Given the description of an element on the screen output the (x, y) to click on. 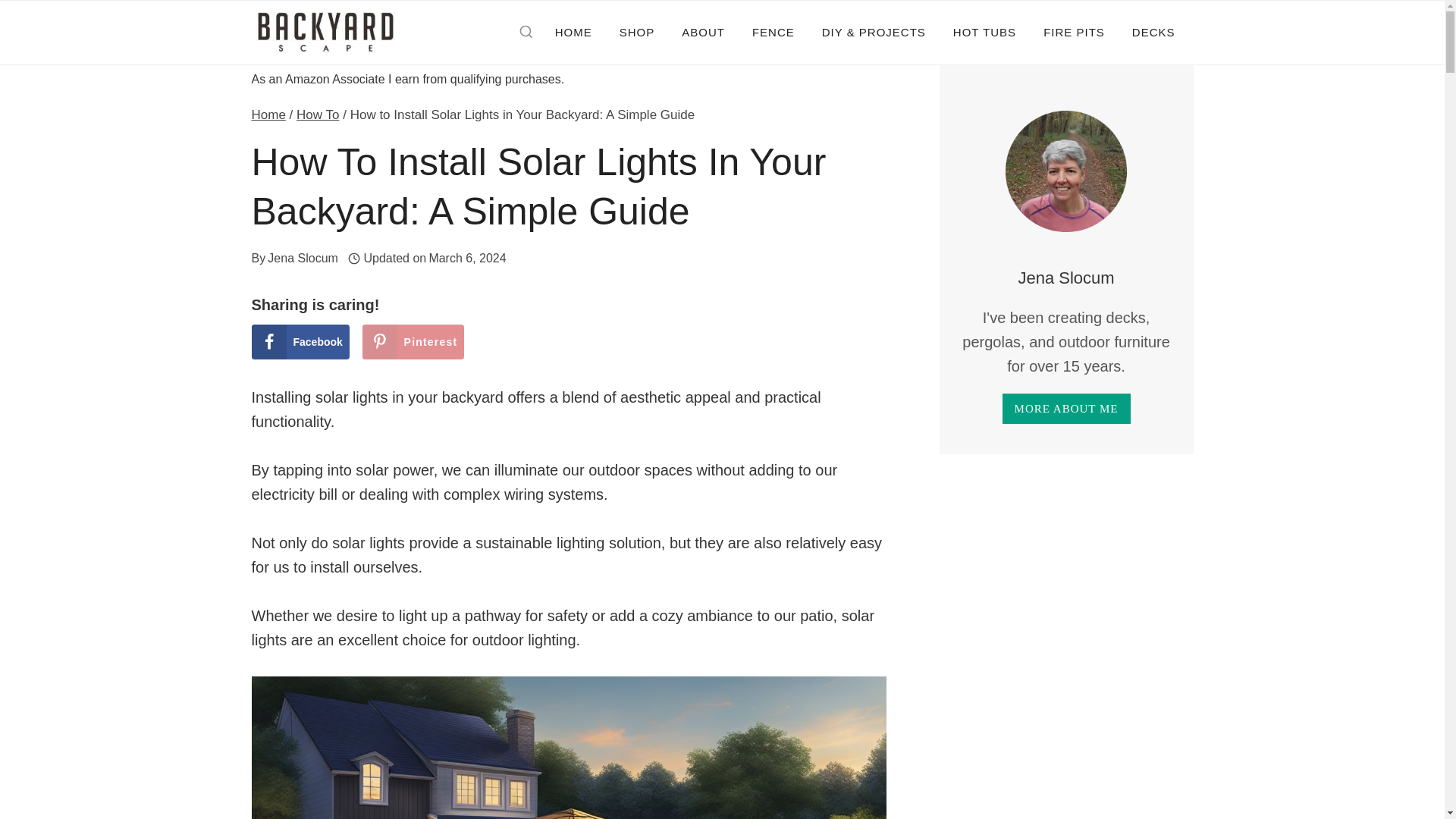
Pinterest (413, 341)
SHOP (636, 32)
DECKS (1153, 32)
HOME (573, 32)
FENCE (773, 32)
How To (318, 114)
ABOUT (703, 32)
Home (268, 114)
Jena Slocum (302, 257)
Save to Pinterest (413, 341)
